Given the description of an element on the screen output the (x, y) to click on. 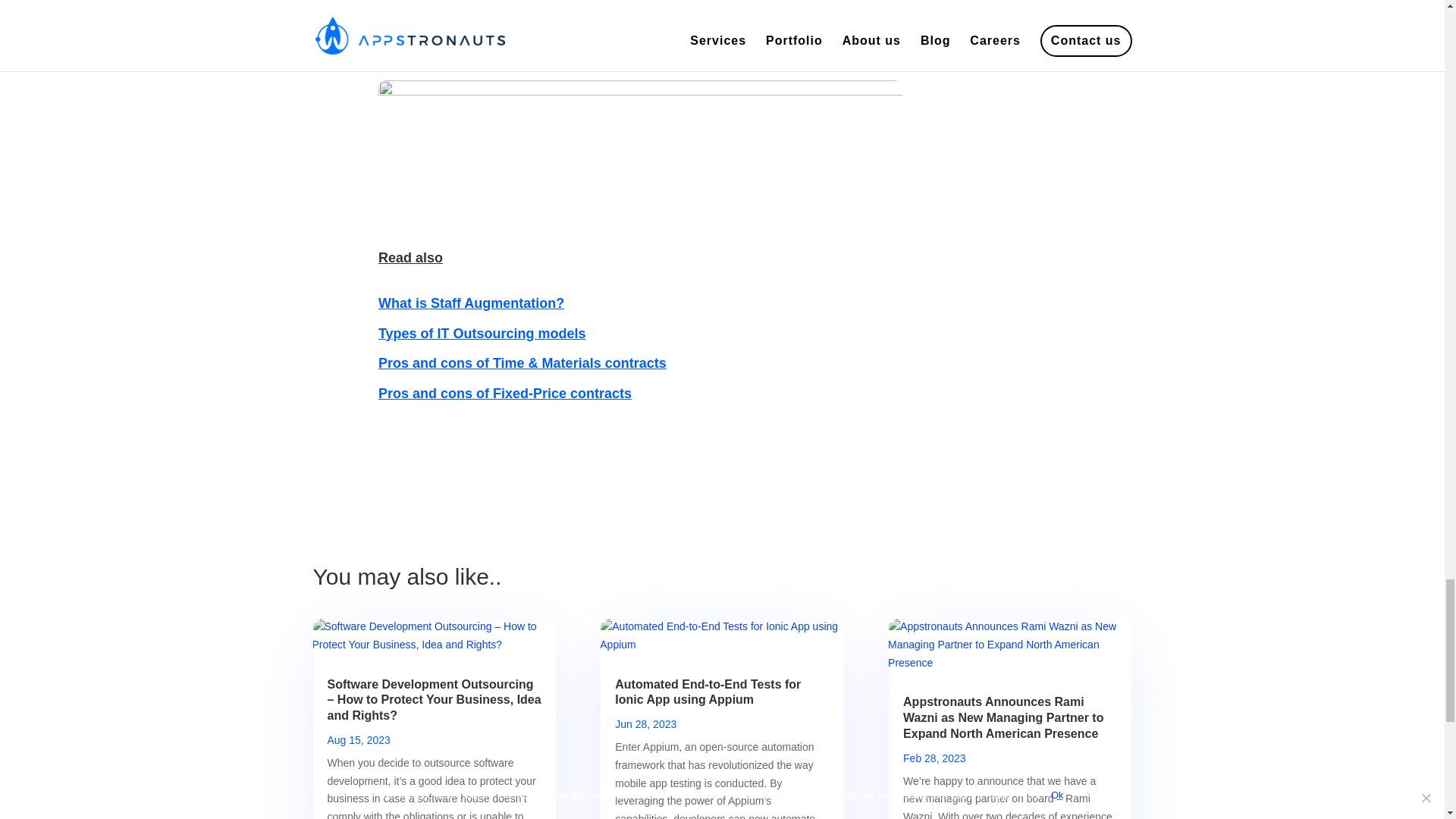
top app development company from Poland (552, 38)
Types of IT Outsourcing models (482, 333)
Automated End-to-End Tests for Ionic App using Appium (707, 692)
What is Staff Augmentation? (471, 303)
Pros and cons of Fixed-Price contracts (504, 393)
Clutch. (643, 13)
